Given the description of an element on the screen output the (x, y) to click on. 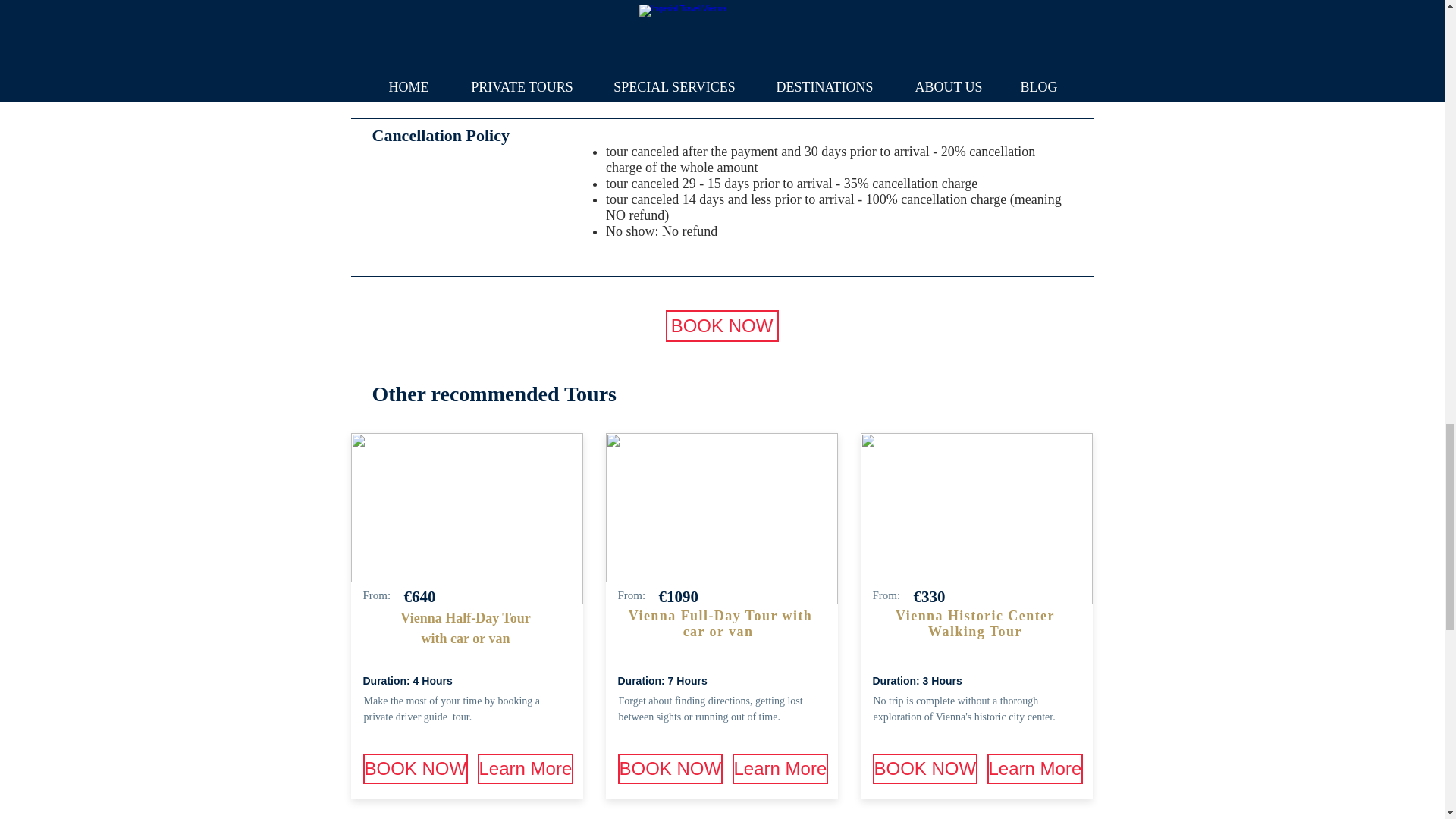
Learn More (525, 768)
BOOK NOW (924, 768)
Learn More (780, 768)
Learn More (1035, 768)
BOOK NOW (414, 768)
BOOK NOW (669, 768)
BOOK NOW (721, 326)
